Given the description of an element on the screen output the (x, y) to click on. 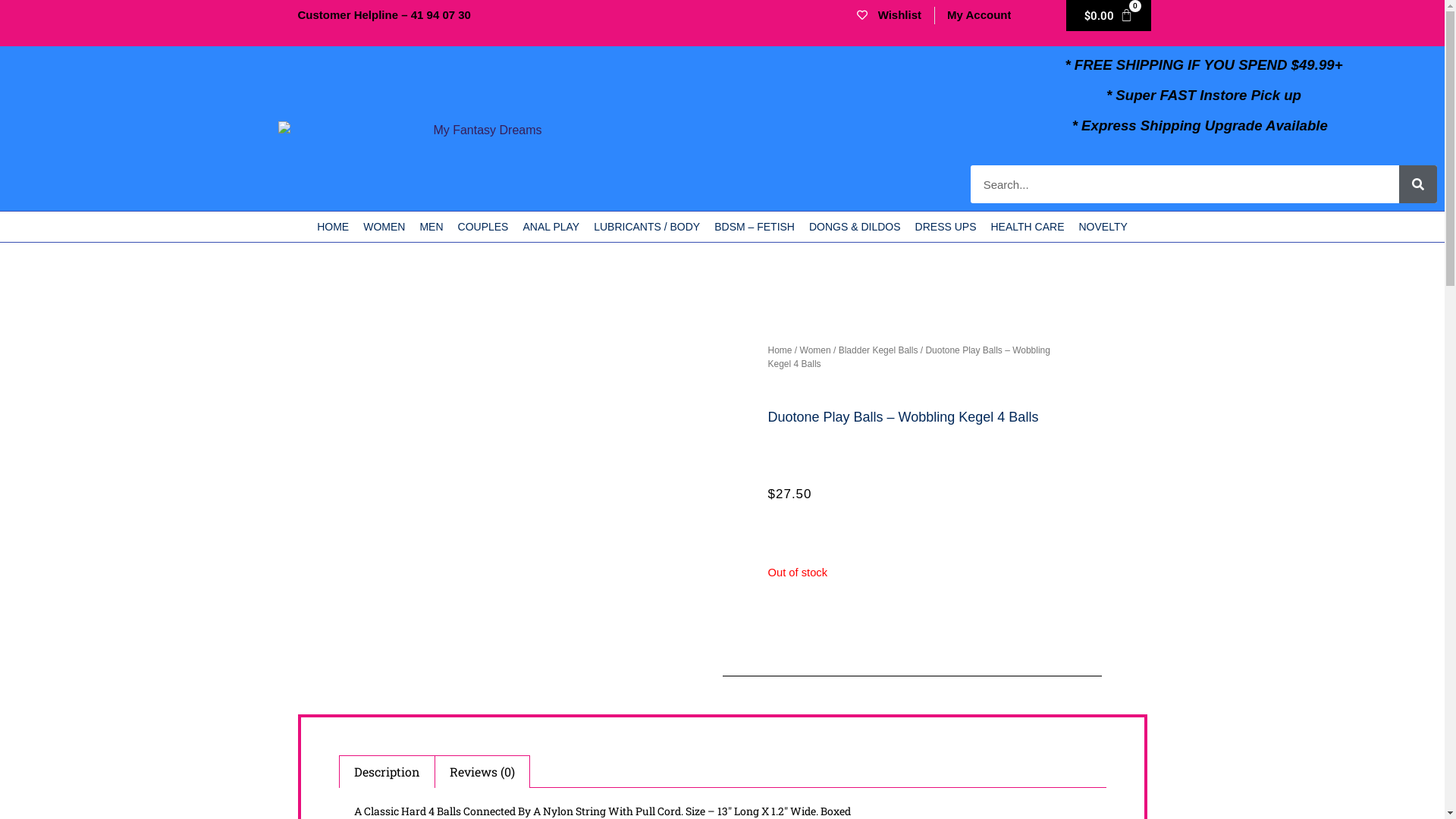
My Account Element type: text (978, 15)
HOME Element type: text (332, 226)
ANAL PLAY Element type: text (550, 226)
Reviews (0) Element type: text (482, 771)
Bladder Kegel Balls Element type: text (878, 350)
NOVELTY Element type: text (1102, 226)
Women Element type: text (815, 350)
LUBRICANTS / BODY Element type: text (646, 226)
WOMEN Element type: text (383, 226)
DONGS & DILDOS Element type: text (854, 226)
DRESS UPS Element type: text (945, 226)
Wishlist Element type: text (887, 15)
41 94 07 30 Element type: text (440, 14)
Home Element type: text (779, 350)
Description Element type: text (386, 771)
COUPLES Element type: text (483, 226)
MEN Element type: text (430, 226)
HEALTH CARE Element type: text (1026, 226)
